Given the description of an element on the screen output the (x, y) to click on. 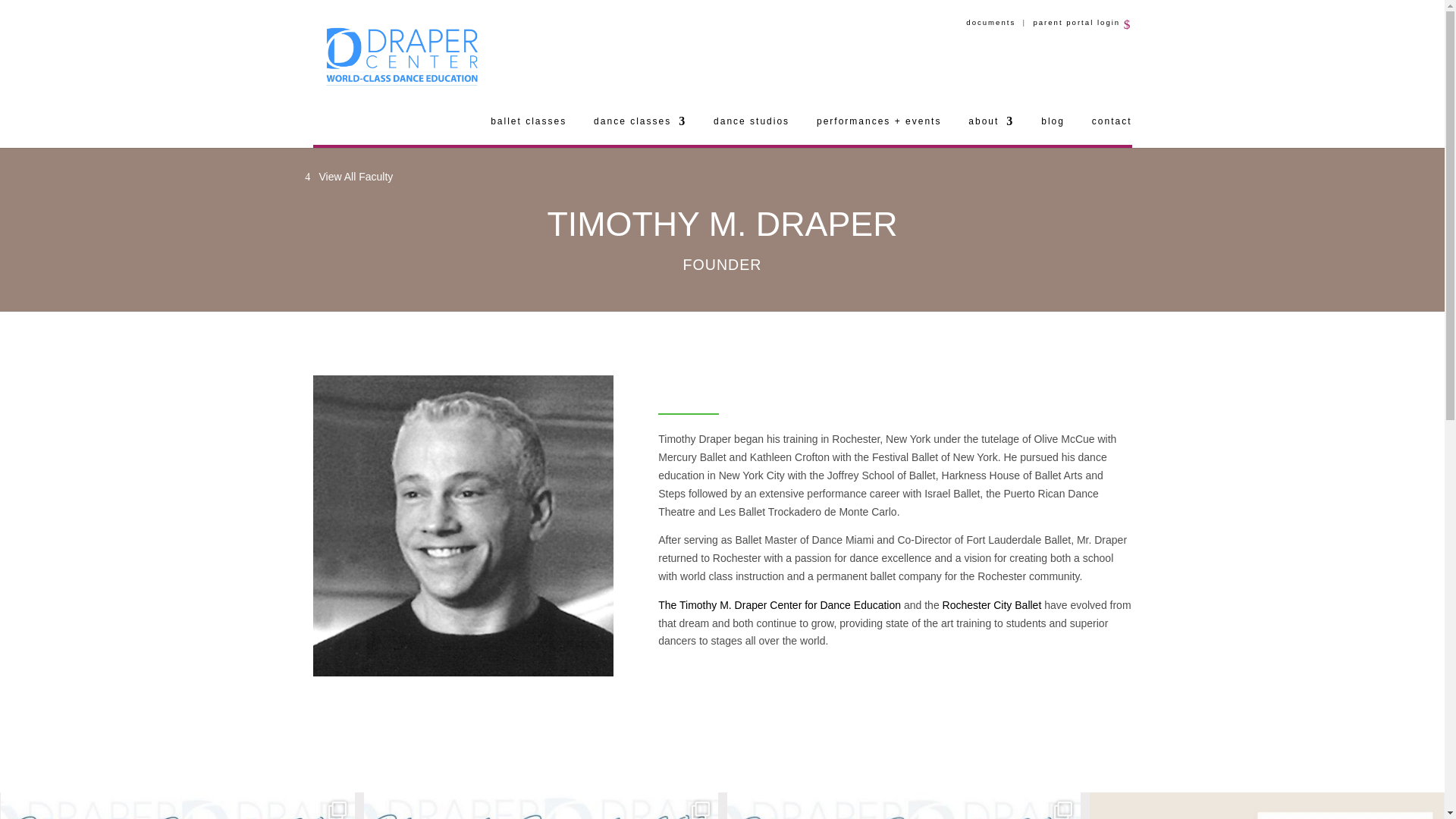
contact (1112, 130)
dance studios (751, 130)
dance classes (639, 130)
documents (990, 22)
ballet classes (528, 130)
about (990, 130)
